Given the description of an element on the screen output the (x, y) to click on. 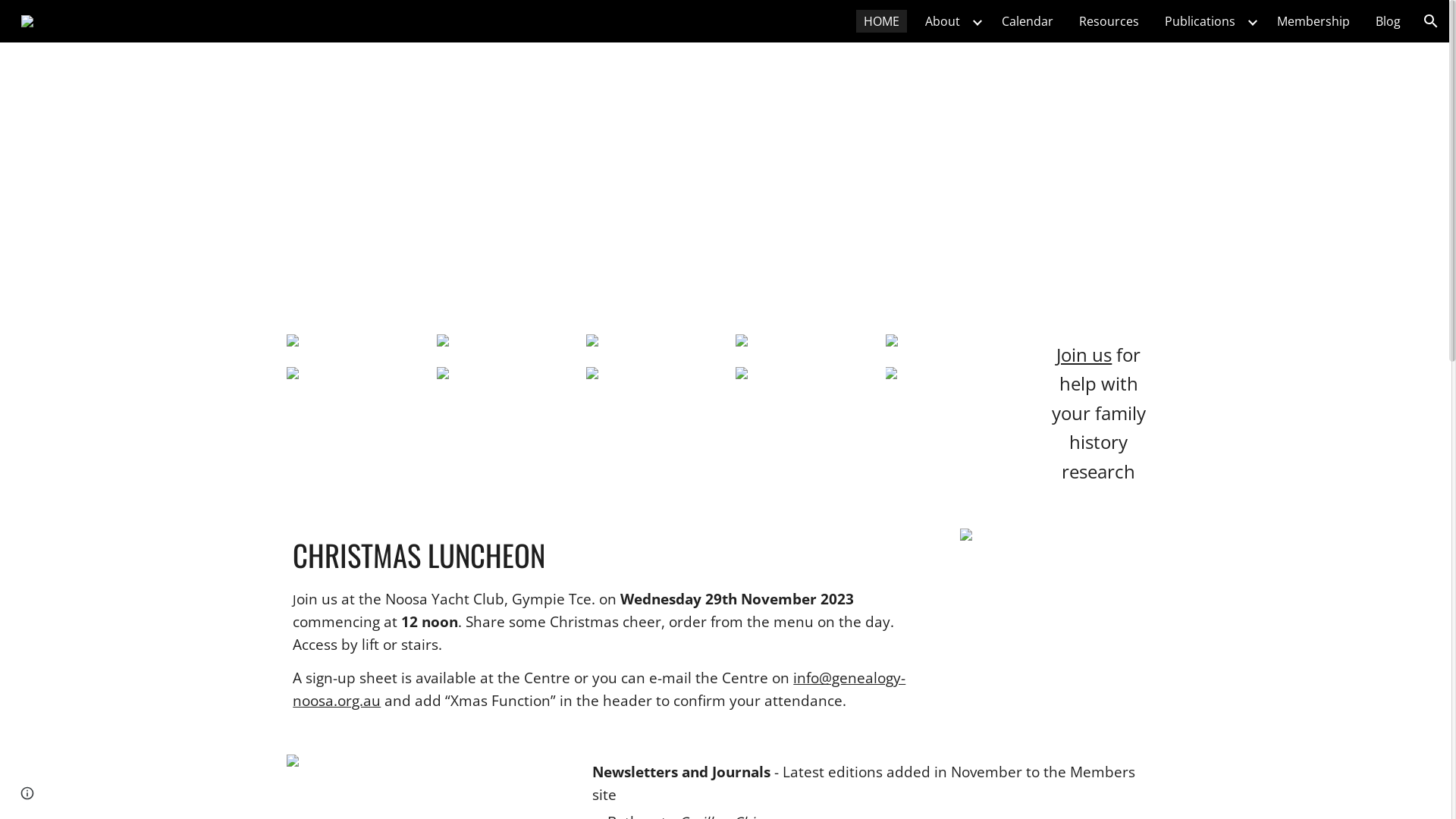
Resources Element type: text (1108, 20)
Publications Element type: text (1199, 20)
Blog Element type: text (1388, 20)
Join us Element type: text (1083, 356)
Expand/Collapse Element type: hover (1251, 20)
HOME Element type: text (881, 20)
Expand/Collapse Element type: hover (976, 20)
Membership Element type: text (1313, 20)
About Element type: text (942, 20)
Calendar Element type: text (1027, 20)
info@genealogy-noosa.org.au Element type: text (598, 688)
